Given the description of an element on the screen output the (x, y) to click on. 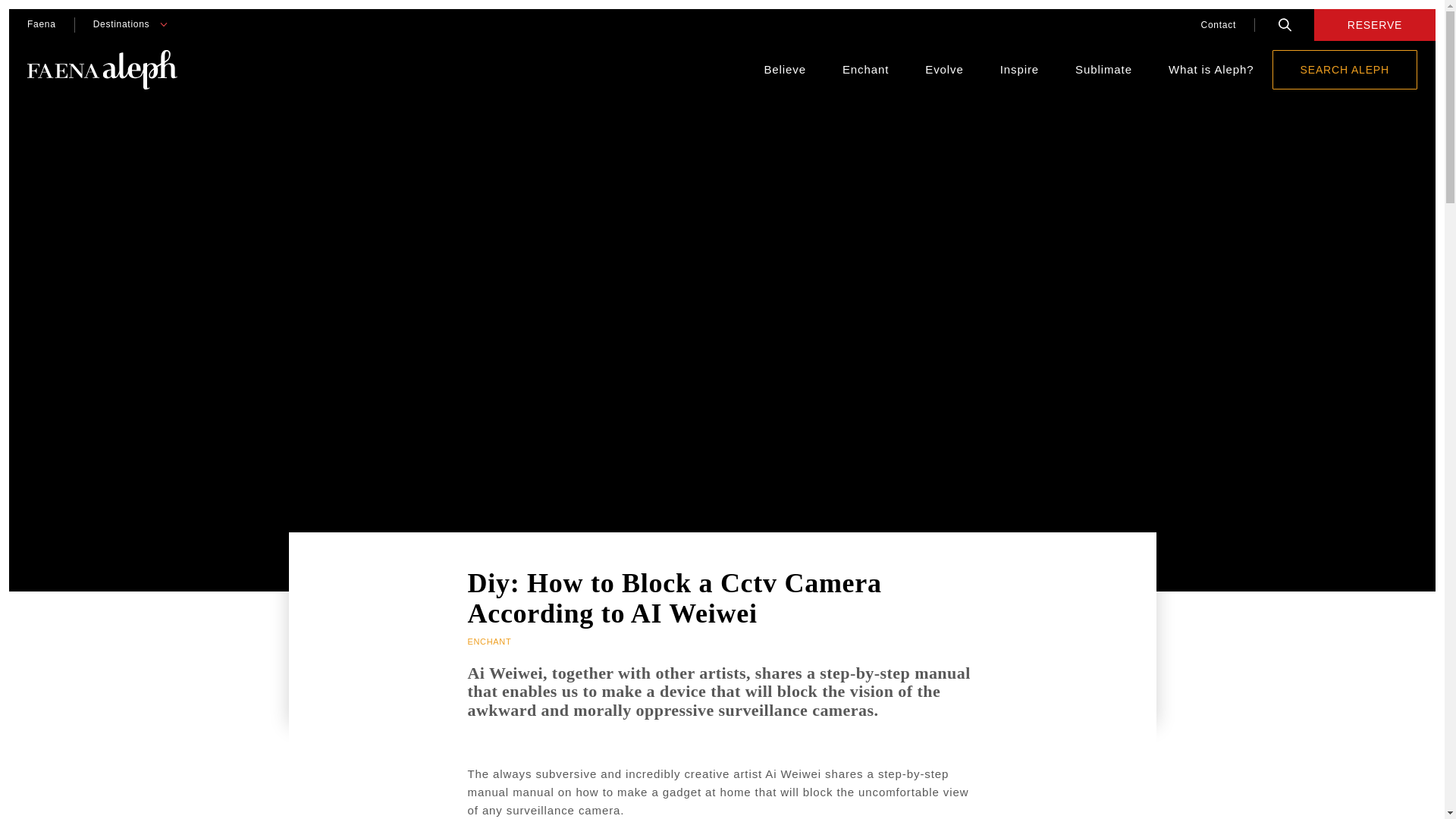
Destinations (121, 23)
Sublimate (1103, 69)
Evolve (943, 69)
Search (1284, 24)
Faena (41, 23)
Enchant (865, 69)
What is Aleph? (1211, 69)
SEARCH ALEPH (1344, 69)
Inspire (1019, 69)
